Given the description of an element on the screen output the (x, y) to click on. 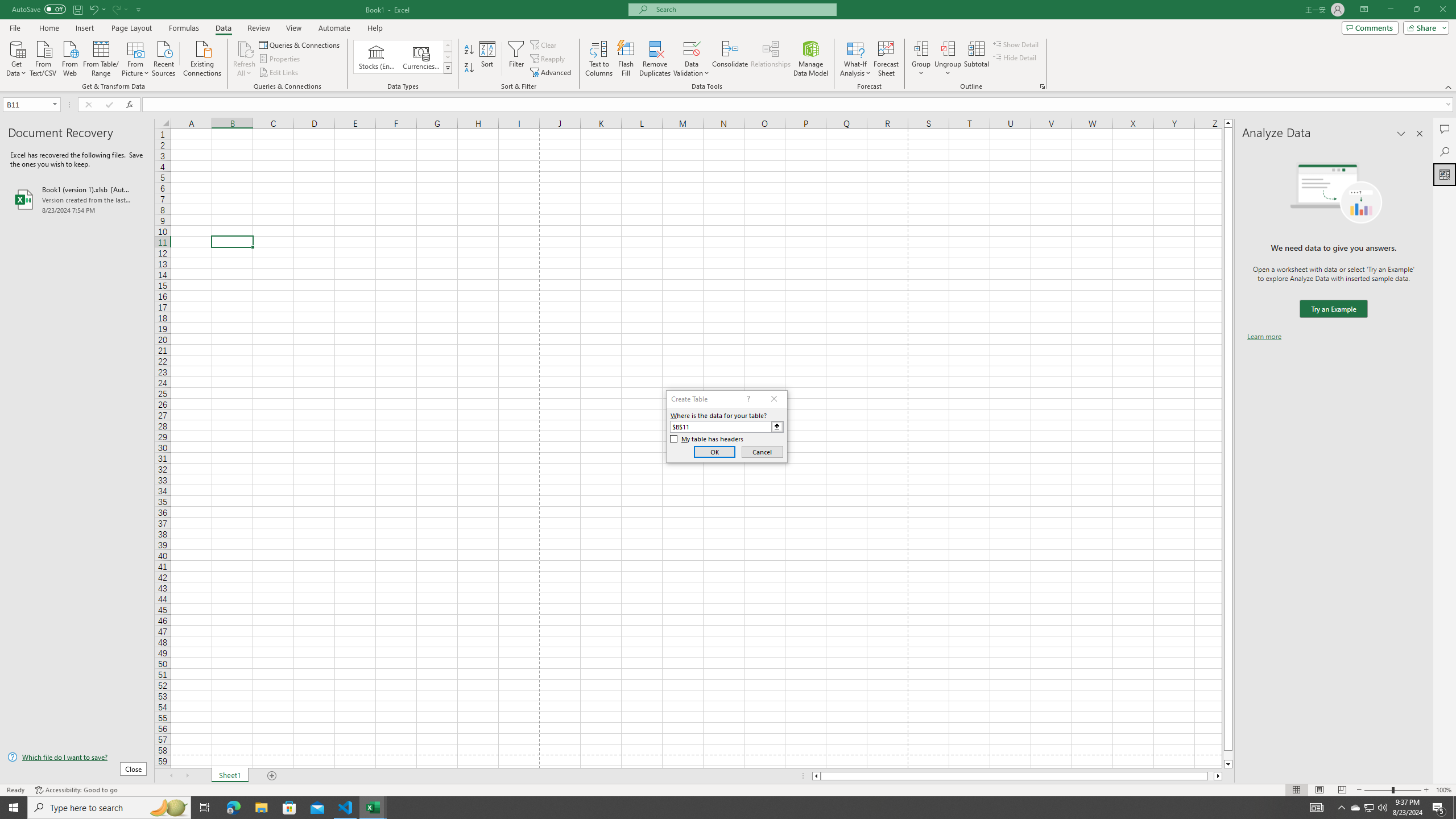
Class: MsoCommandBar (728, 45)
Page right (1211, 775)
From Table/Range (100, 57)
Automate (334, 28)
Sort... (487, 58)
Row Down (448, 56)
Learn more (1264, 336)
From Picture (135, 57)
